Given the description of an element on the screen output the (x, y) to click on. 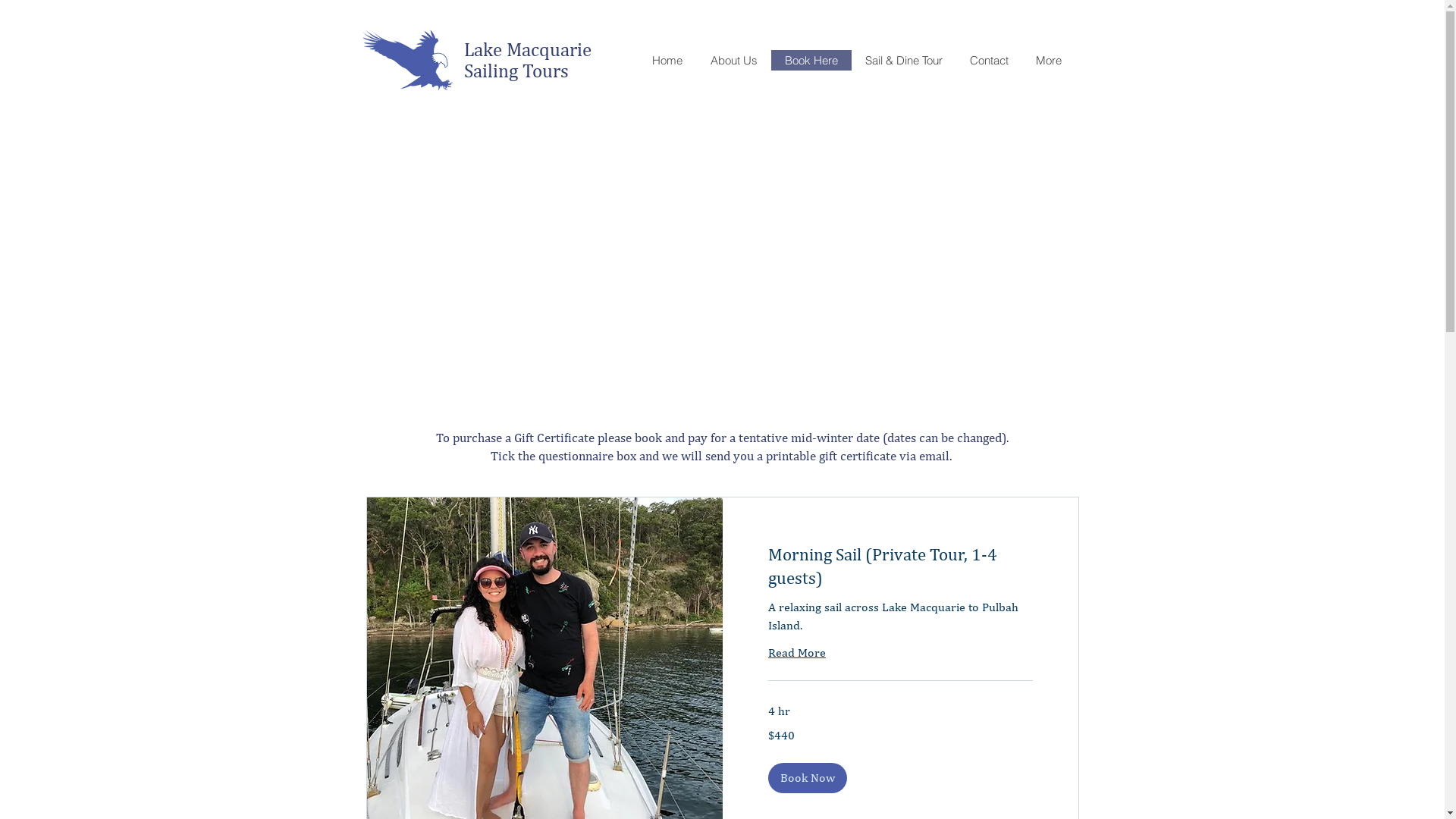
Home Element type: text (667, 60)
Sail & Dine Tour Element type: text (902, 60)
More Element type: text (1048, 60)
Book Here Element type: text (810, 60)
Morning Sail (Private Tour, 1-4 guests) Element type: text (899, 565)
Read More Element type: text (796, 652)
Lake Macquarie 
Sailing Tours Element type: text (530, 59)
Book Now Element type: text (806, 777)
Contact Element type: text (988, 60)
About Us Element type: text (733, 60)
